Given the description of an element on the screen output the (x, y) to click on. 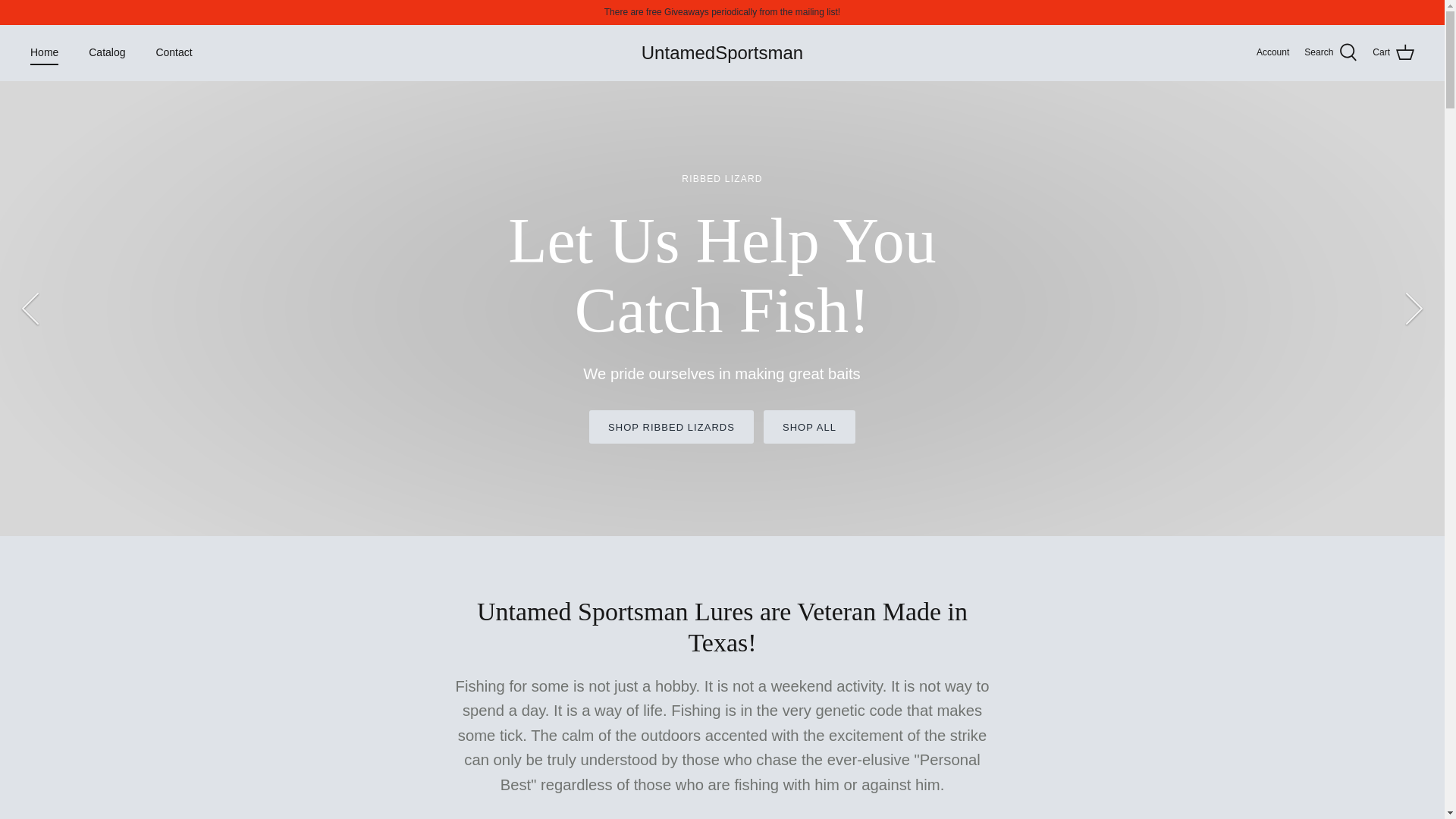
LEFT (30, 308)
Contact (173, 51)
SHOP RIBBED LIZARDS (671, 426)
UntamedSportsman (722, 53)
Account (1272, 52)
LEFT (30, 308)
Catalog (106, 51)
SHOP ALL (809, 426)
Search (1330, 53)
Home (43, 51)
